Given the description of an element on the screen output the (x, y) to click on. 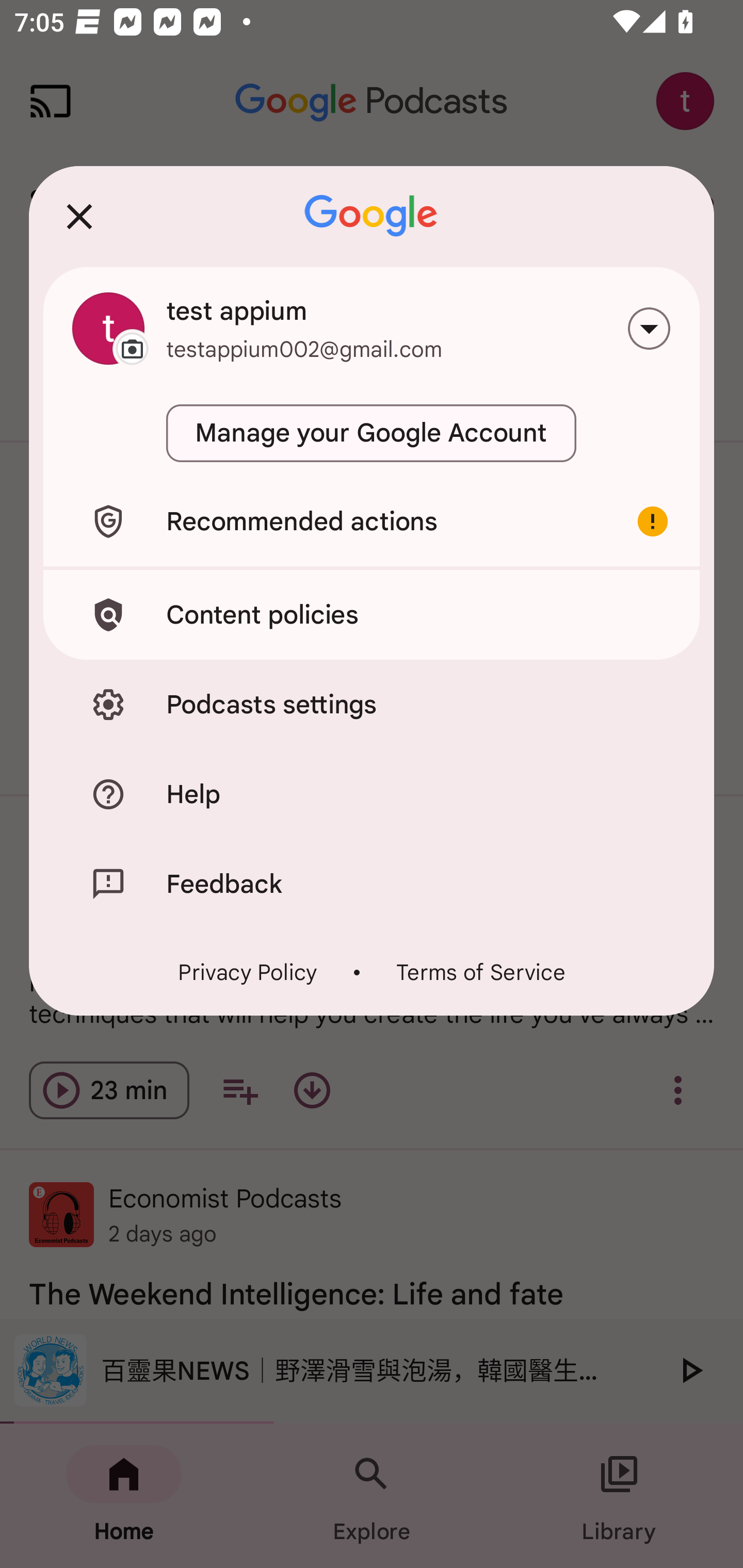
Close (79, 216)
Change profile picture. (108, 328)
Manage your Google Account (371, 433)
Recommended actions Important account alert (371, 521)
Content policies (371, 614)
Privacy Policy (247, 972)
Terms of Service (479, 972)
